Given the description of an element on the screen output the (x, y) to click on. 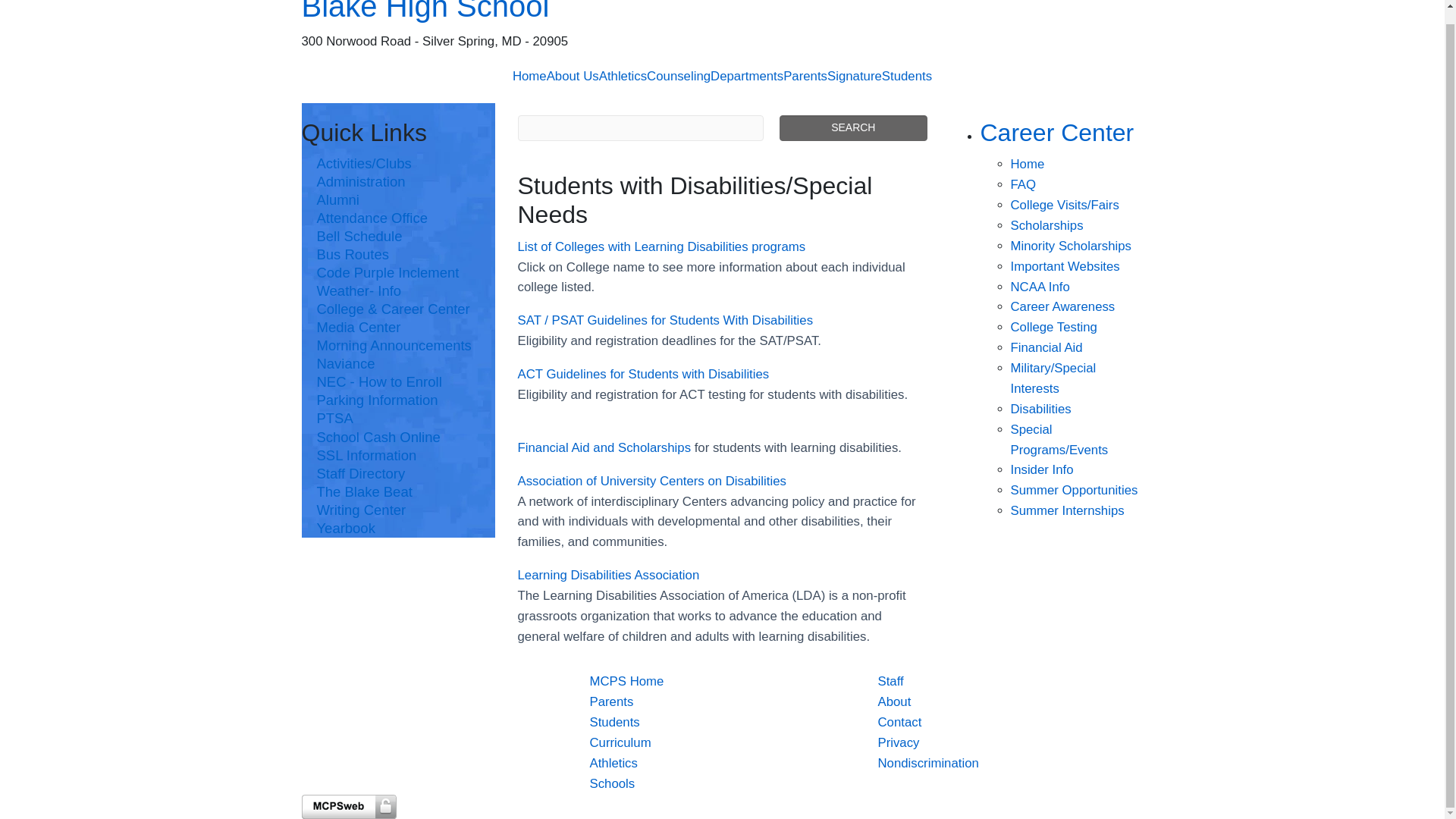
Home (529, 76)
Code Purple Inclement Weather- Info (398, 281)
Parents (805, 76)
Alumni (398, 199)
Financial Aid and Scholarships (603, 447)
Learning Disabilities Association (607, 575)
Staff Directory (398, 474)
Attendance Office (398, 218)
Media Center (398, 327)
NEC - How to Enroll (398, 382)
Counseling (678, 76)
About Us (572, 76)
Signature (854, 76)
Departments (746, 76)
Bus Routes (398, 254)
